Given the description of an element on the screen output the (x, y) to click on. 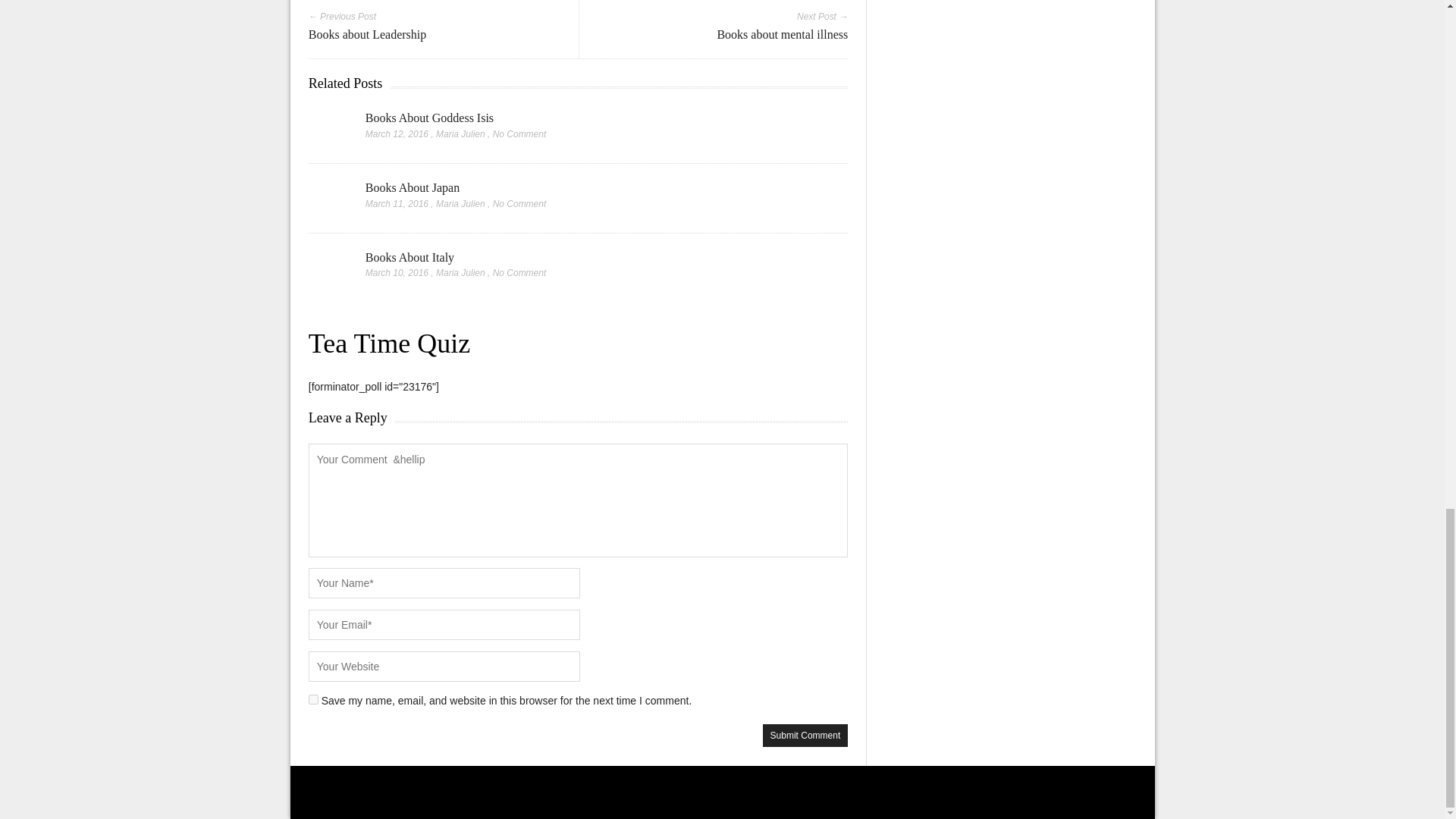
Maria Julien (459, 133)
yes (313, 699)
No Comment (520, 272)
Books About Goddess Isis (429, 117)
Maria Julien (459, 204)
Posts by Maria Julien (459, 272)
Books About Japan (412, 187)
Posts by Maria Julien (459, 133)
Posts by Maria Julien (459, 204)
No Comment (520, 133)
Submit Comment (805, 734)
Books About Japan (412, 187)
Books About Italy (409, 256)
Maria Julien (459, 272)
Books About Goddess Isis (429, 117)
